Given the description of an element on the screen output the (x, y) to click on. 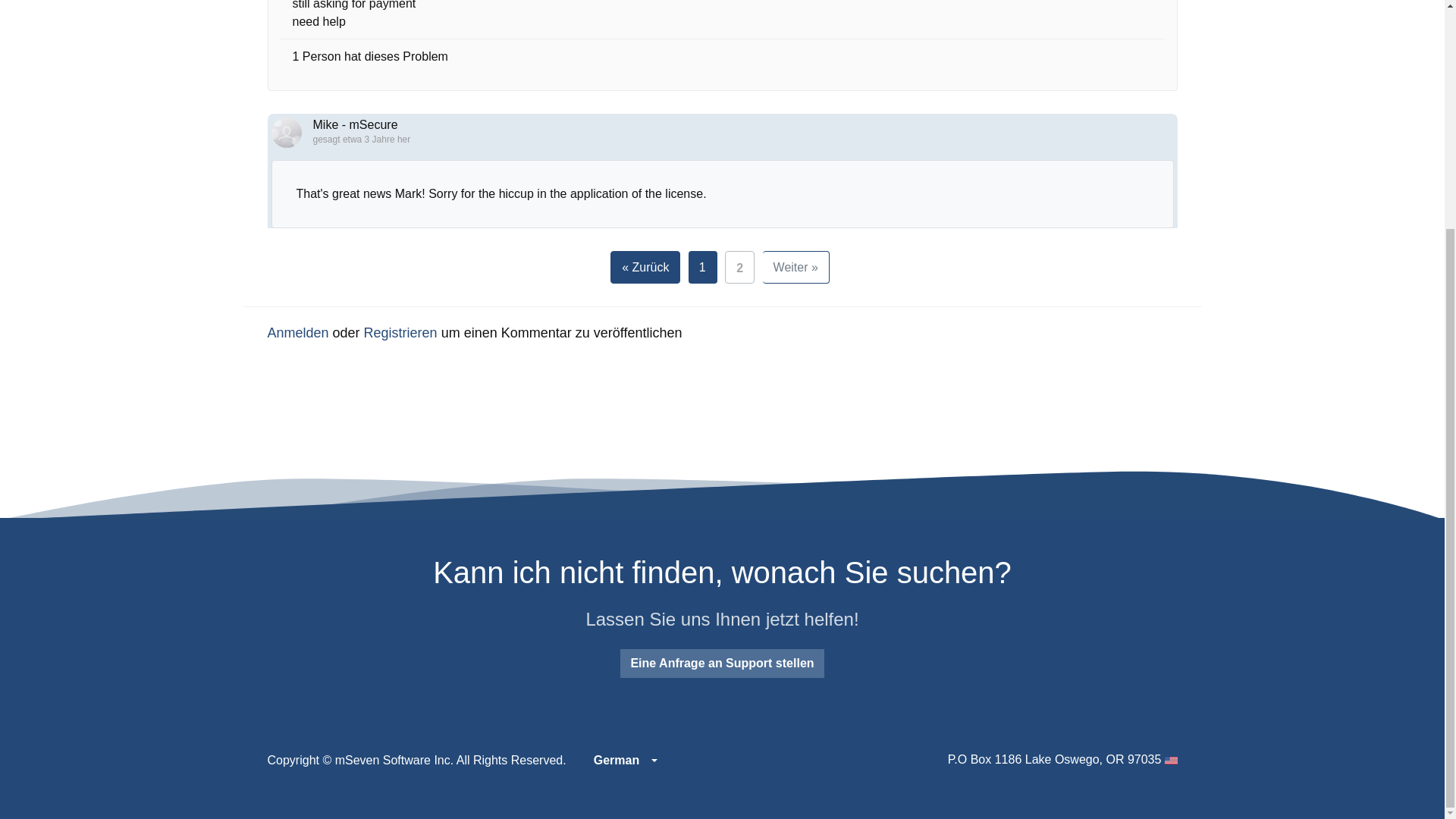
2 (739, 266)
Registrieren (401, 332)
Fr, Aug 20, 2021 um 11:29 VORMITTAGS (376, 139)
Anmelden (297, 332)
Eine Anfrage an Support stellen (722, 663)
